Given the description of an element on the screen output the (x, y) to click on. 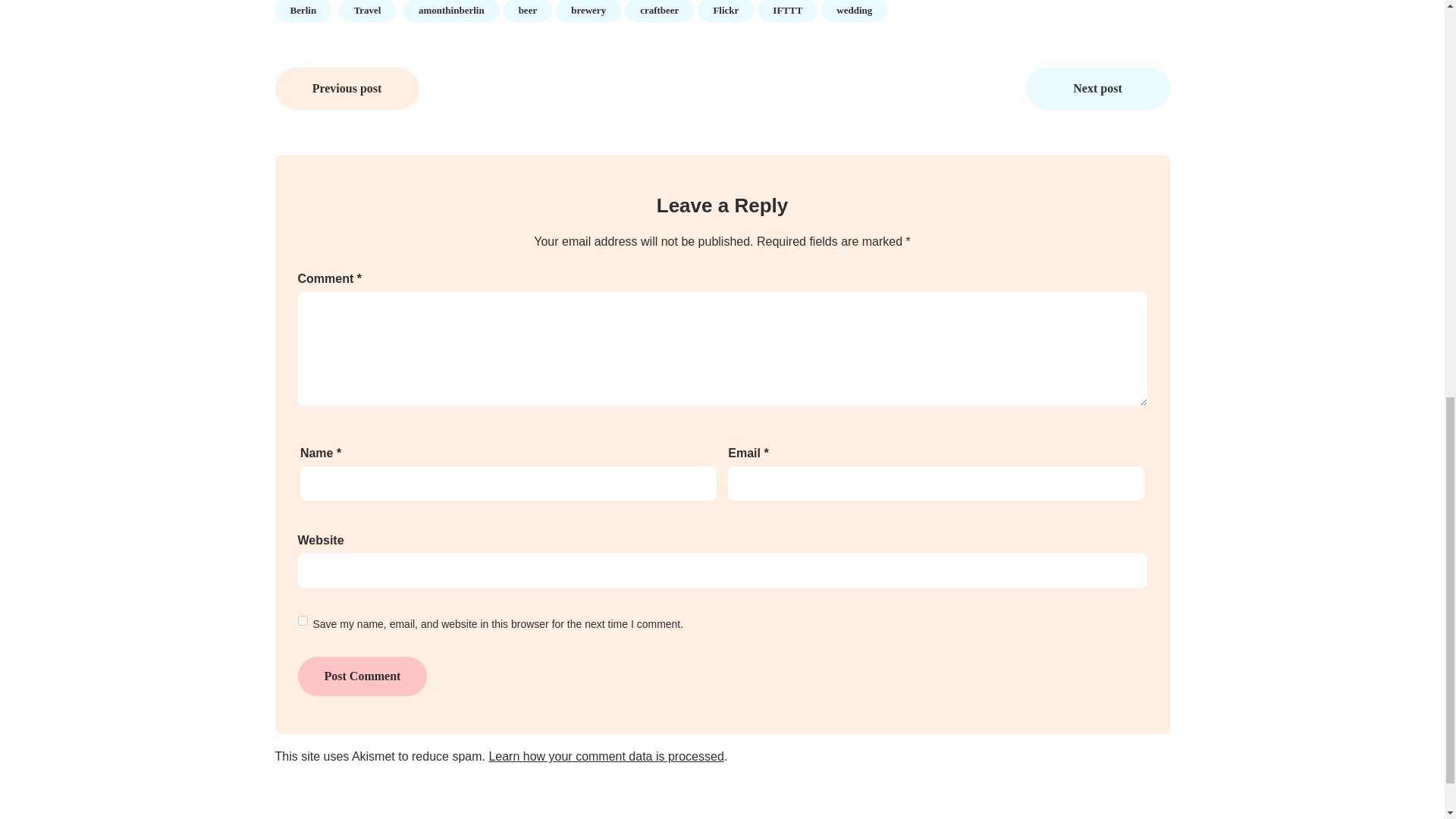
yes (302, 620)
amonthinberlin (451, 11)
Previous post (347, 88)
Post Comment (361, 676)
Learn how your comment data is processed (605, 756)
wedding (853, 11)
brewery (588, 11)
Travel (367, 11)
Next post (1097, 88)
IFTTT (786, 11)
